Given the description of an element on the screen output the (x, y) to click on. 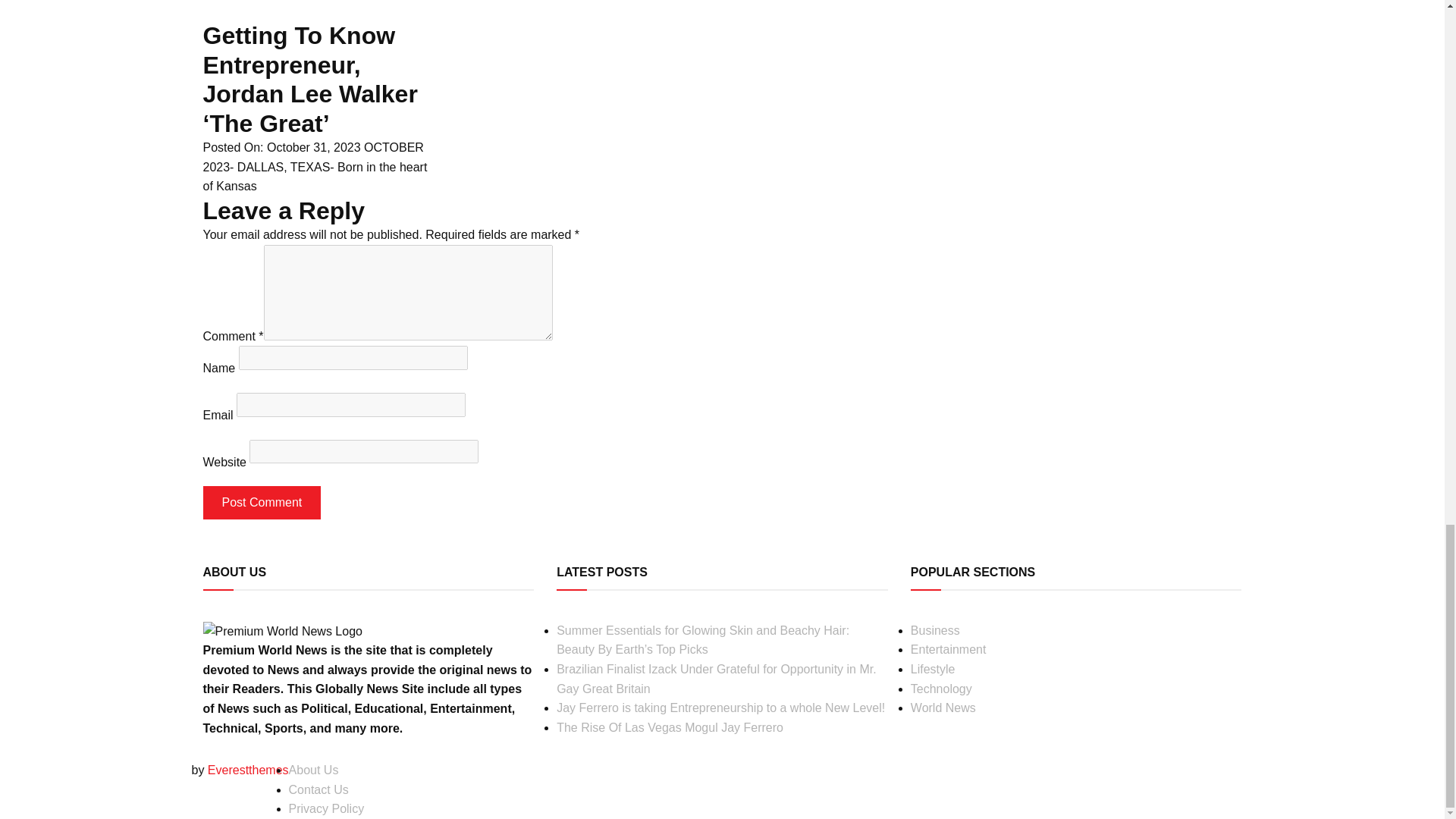
Post Comment (262, 502)
